Given the description of an element on the screen output the (x, y) to click on. 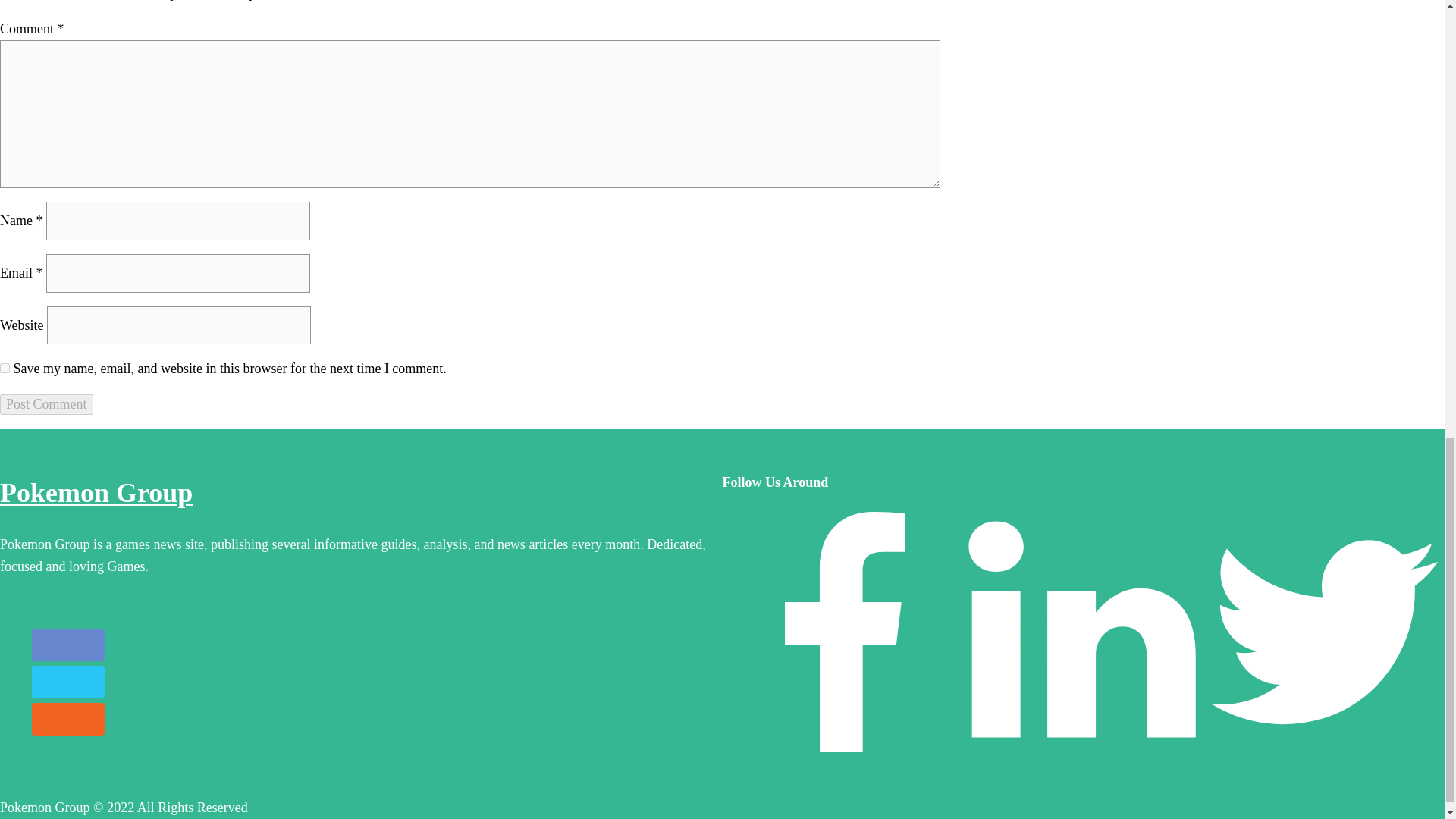
Post Comment (46, 403)
yes (5, 368)
Pokemon Group (96, 492)
Post Comment (46, 403)
